Given the description of an element on the screen output the (x, y) to click on. 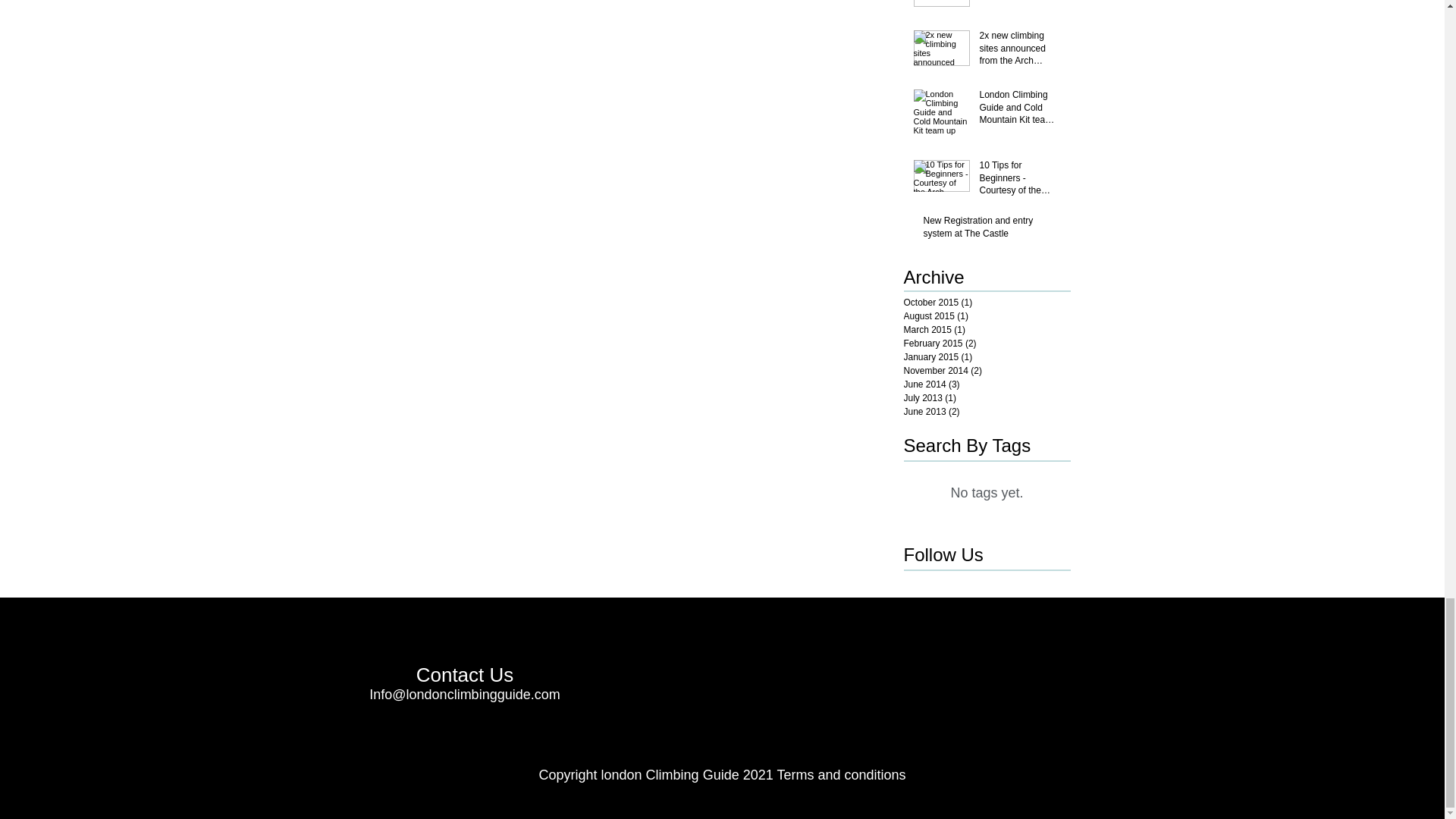
10 Tips for Beginners - Courtesy of the Arch Climbing (1020, 180)
London Climbing Guide and Cold Mountain Kit team up (1020, 110)
New Registration and entry system at The Castle (992, 230)
